Given the description of an element on the screen output the (x, y) to click on. 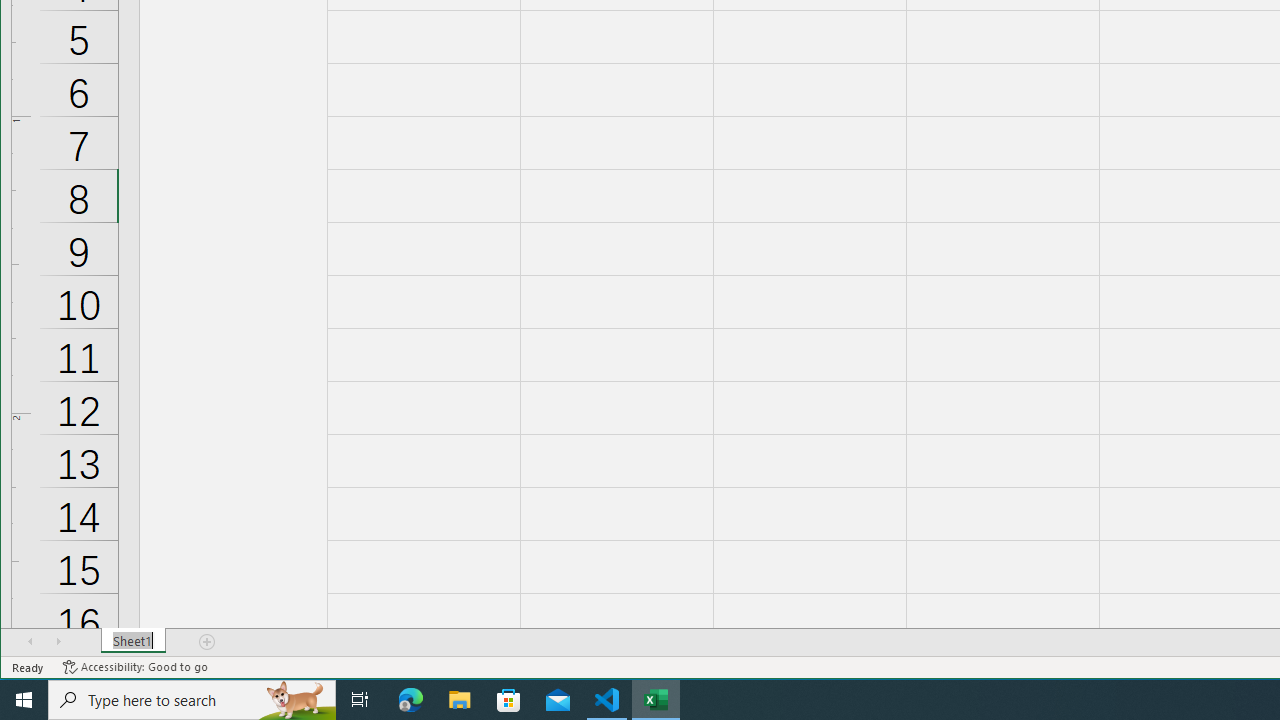
Sheet Tab (133, 641)
